Given the description of an element on the screen output the (x, y) to click on. 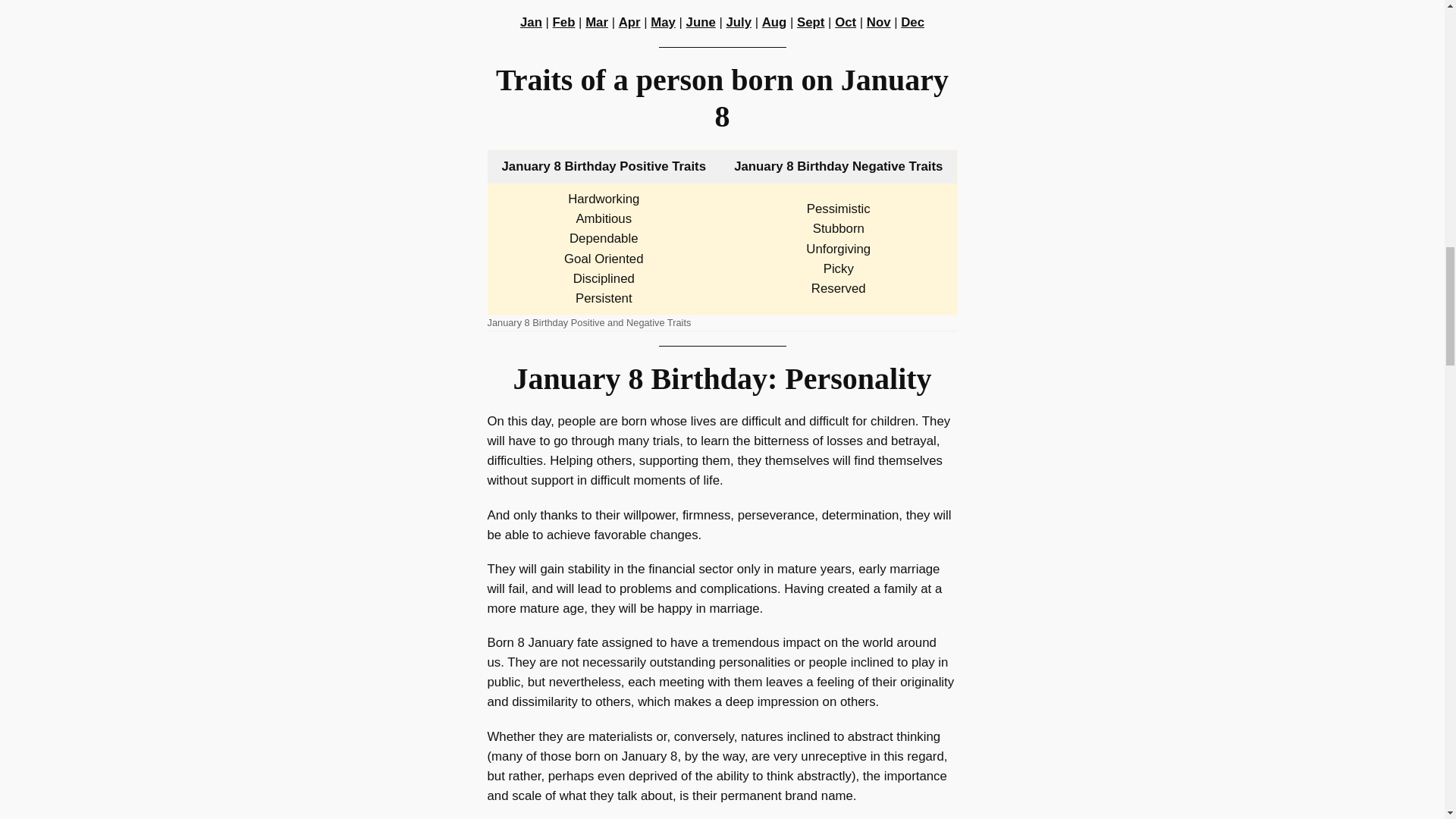
Oct (845, 22)
July (738, 22)
Dec (912, 22)
Mar (596, 22)
Feb (564, 22)
Sept (810, 22)
May (662, 22)
Nov (878, 22)
June (700, 22)
Aug (774, 22)
